Given the description of an element on the screen output the (x, y) to click on. 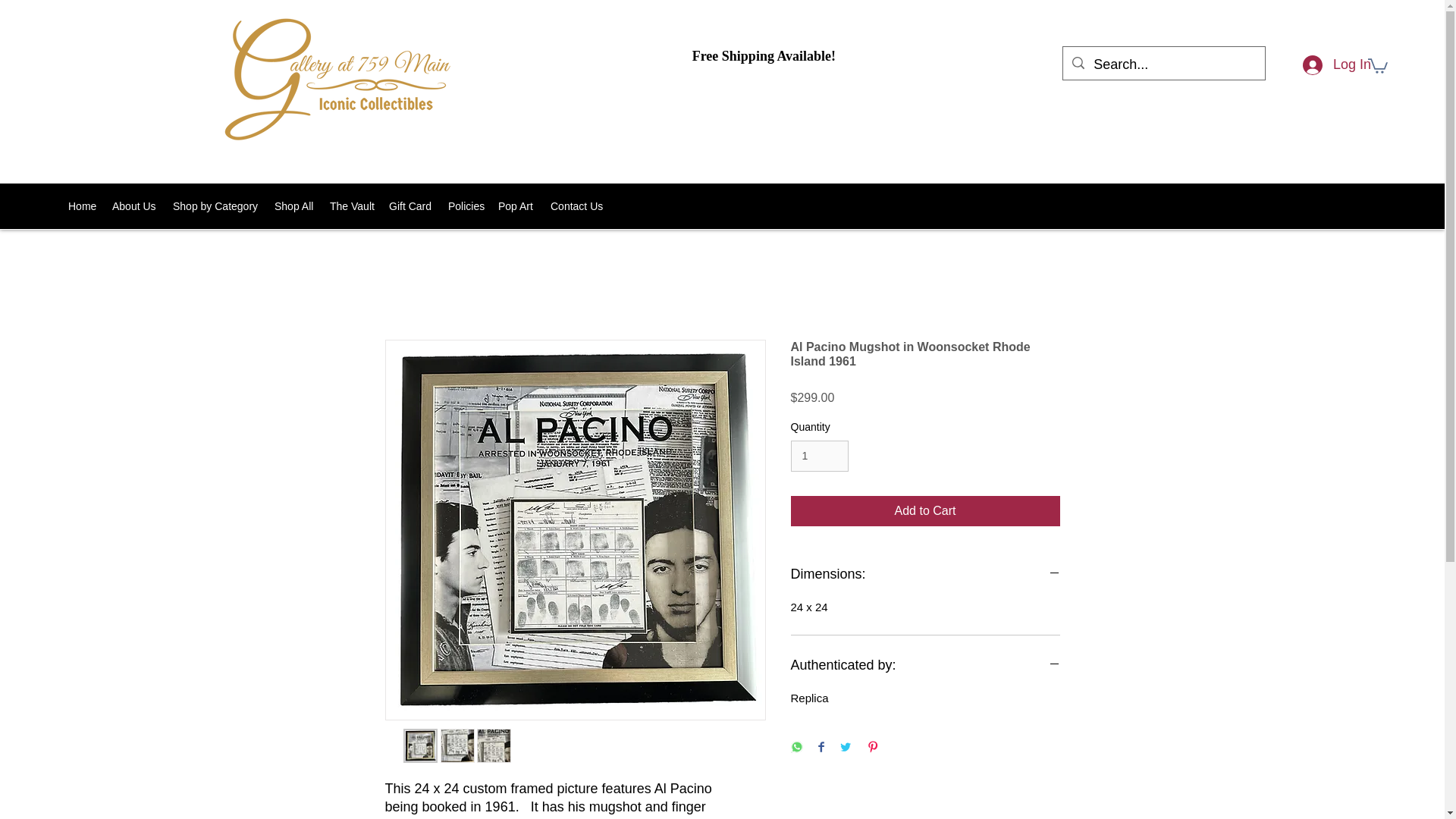
About Us (134, 205)
The Vault (351, 205)
Pop Art (516, 205)
Dimensions: (924, 574)
Shop by Category (215, 205)
Authenticated by: (924, 665)
1 (818, 455)
Log In (1307, 64)
Contact Us (577, 205)
Home (82, 205)
